Given the description of an element on the screen output the (x, y) to click on. 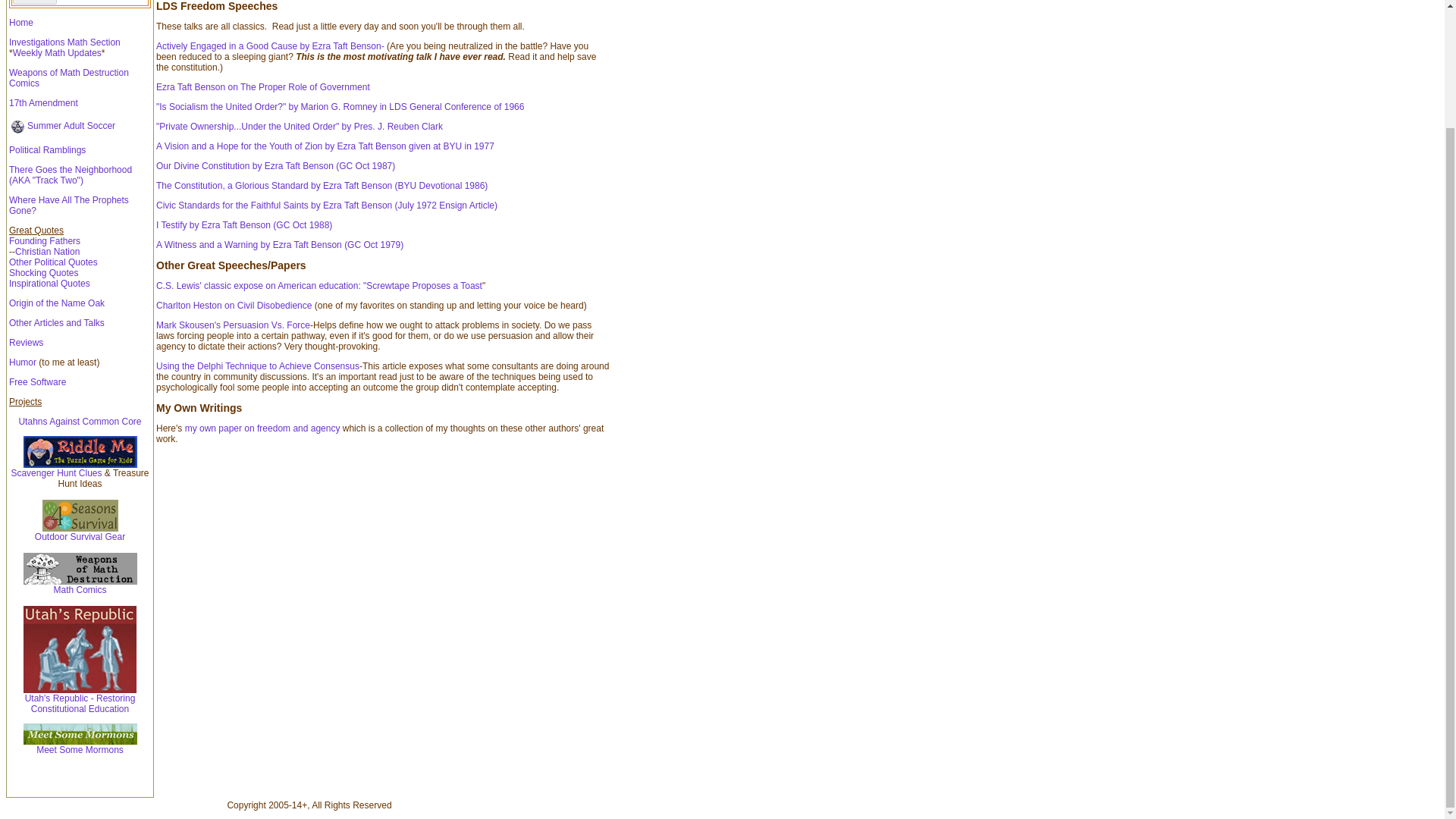
Inspirational Quotes (49, 283)
Utah's Republic - Restoring Constitutional Education (79, 699)
17th Amendment (43, 102)
Search (34, 2)
Investigations Math Section (64, 41)
Meet Some Mormons (79, 749)
Home (20, 22)
Ezra Taft Benson on The Proper Role of Government (262, 86)
Where Have All The Prophets Gone? (68, 205)
Utahns Against Common Core (79, 421)
Origin of the Name Oak (56, 303)
Political Ramblings (46, 149)
